Given the description of an element on the screen output the (x, y) to click on. 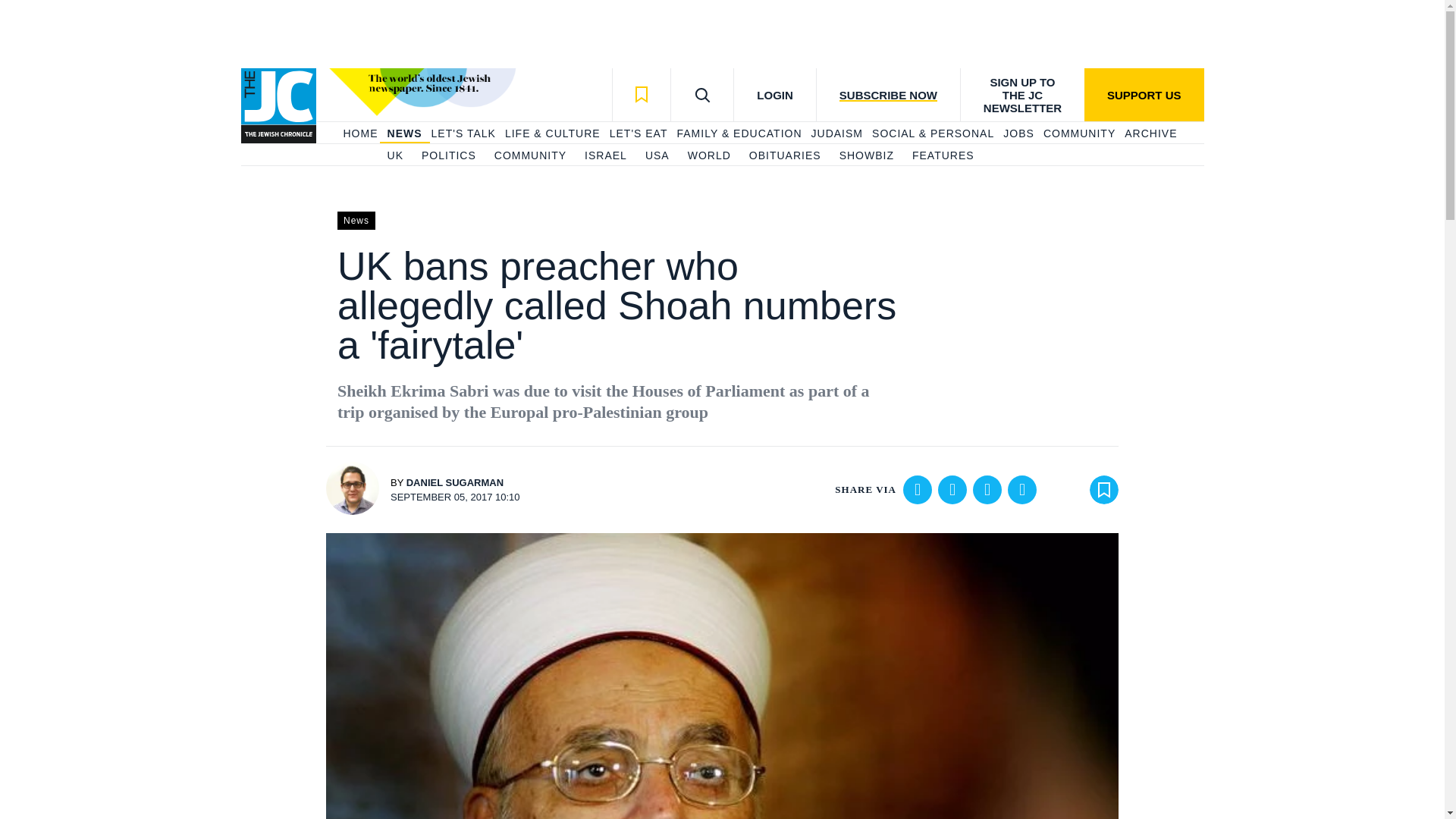
LET'S TALK (463, 133)
USA (657, 155)
SUBSCRIBE NOW (887, 94)
SUPPORT US (1144, 94)
UK (395, 155)
JOBS (1018, 133)
JUDAISM (836, 133)
HOME (359, 133)
ARCHIVE (1150, 133)
WORLD (708, 155)
